Given the description of an element on the screen output the (x, y) to click on. 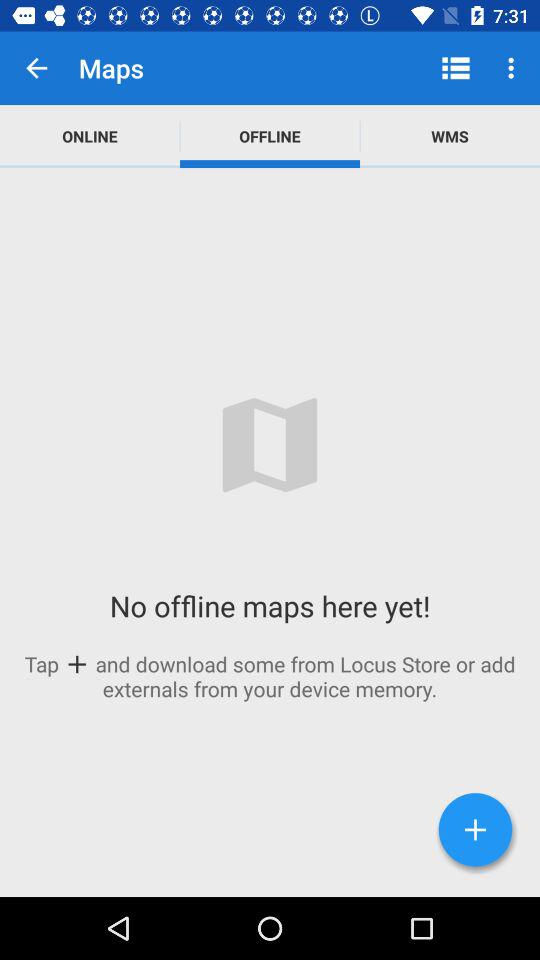
launch the app to the left of the offline (90, 136)
